Given the description of an element on the screen output the (x, y) to click on. 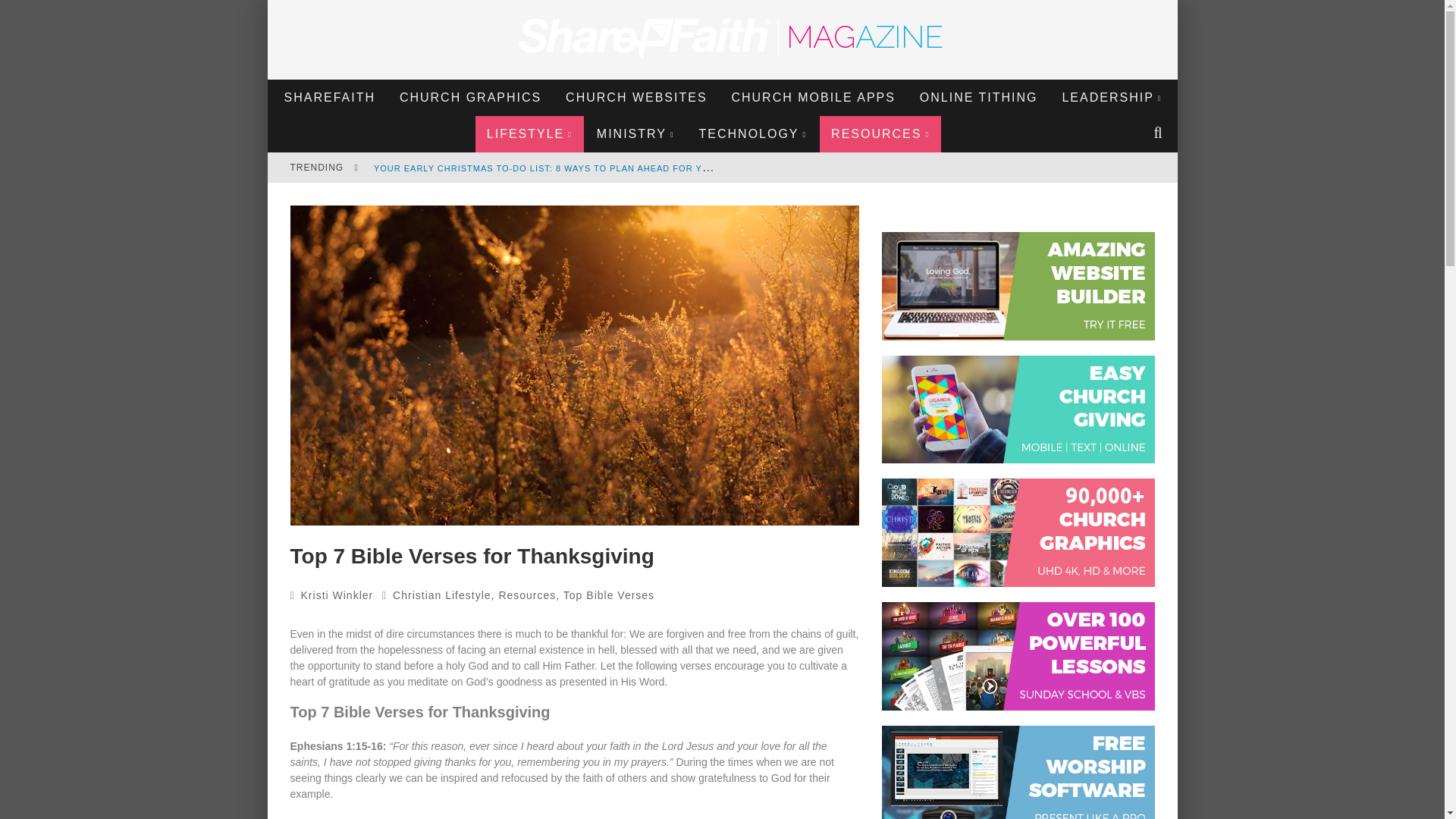
View all posts in Top Bible Verses (608, 594)
CHURCH GRAPHICS (470, 97)
CHURCH WEBSITES (635, 97)
SHAREFAITH (330, 97)
LEADERSHIP (1111, 97)
View all posts in Christian Lifestyle (442, 594)
View all posts in Resources (526, 594)
CHURCH MOBILE APPS (812, 97)
ONLINE TITHING (978, 97)
